Given the description of an element on the screen output the (x, y) to click on. 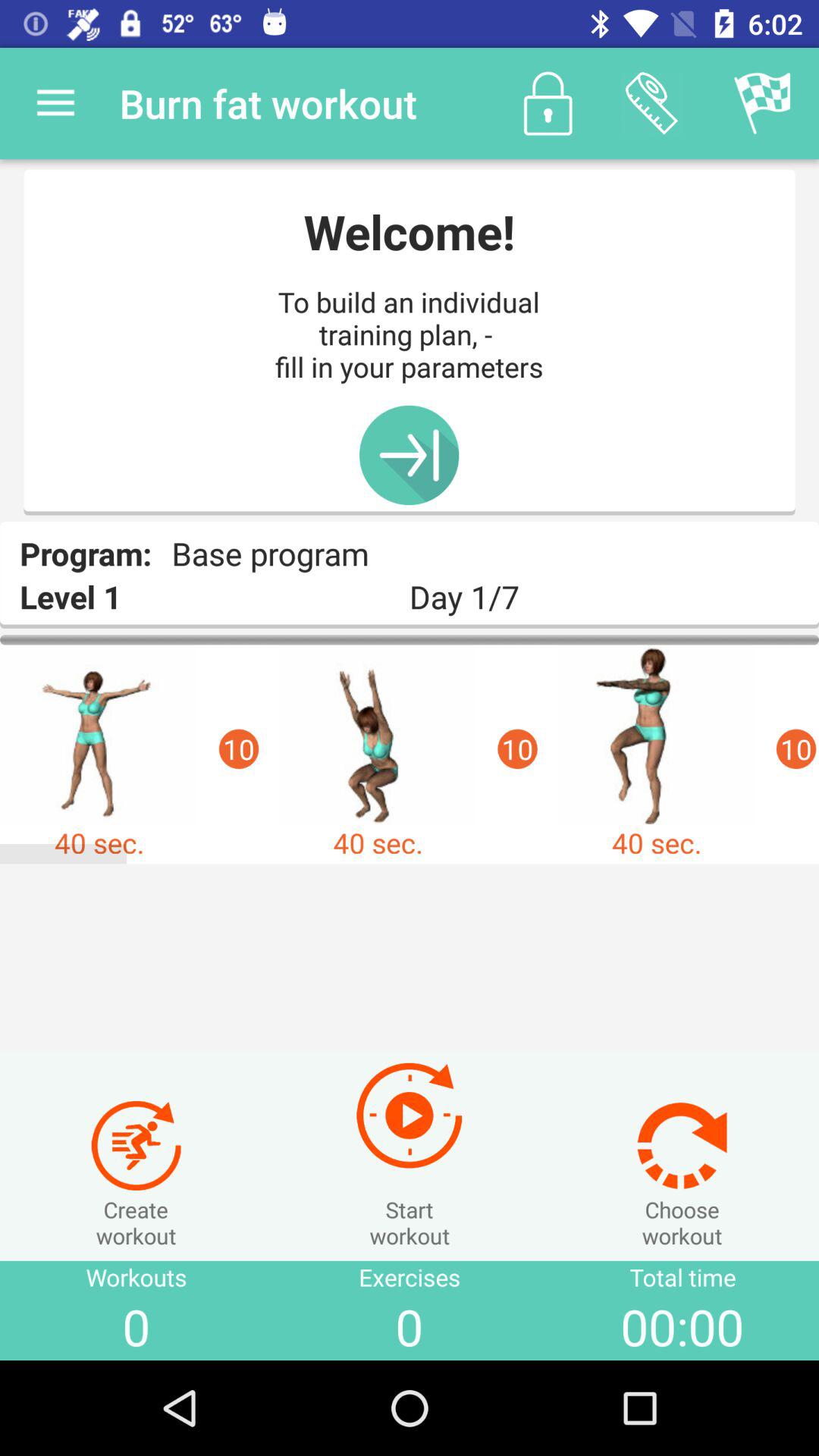
select item above the program: item (55, 103)
